Given the description of an element on the screen output the (x, y) to click on. 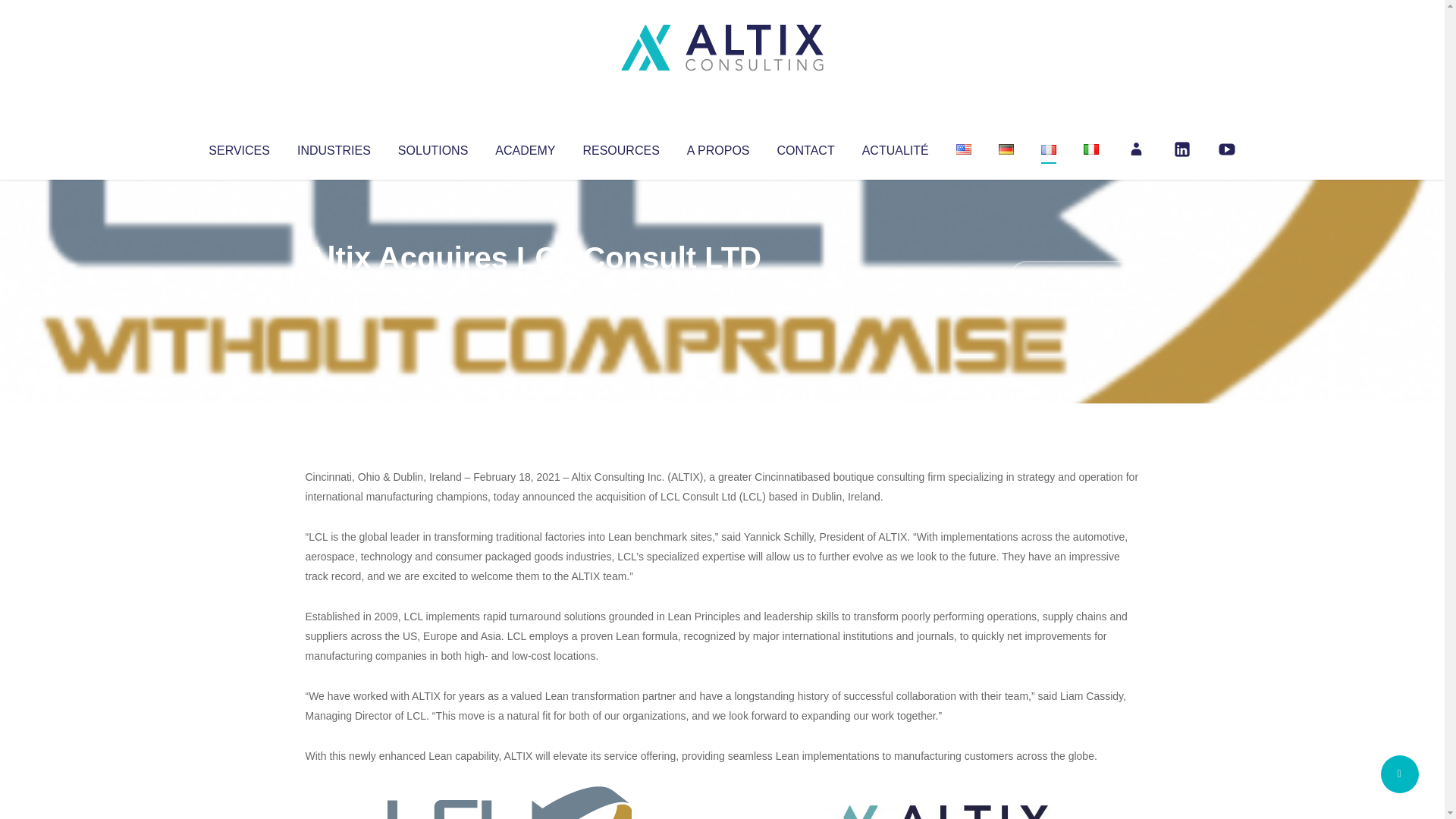
Altix (333, 287)
No Comments (1073, 278)
Articles par Altix (333, 287)
ACADEMY (524, 146)
INDUSTRIES (334, 146)
SOLUTIONS (432, 146)
A PROPOS (718, 146)
SERVICES (238, 146)
Uncategorized (530, 287)
RESOURCES (620, 146)
